Given the description of an element on the screen output the (x, y) to click on. 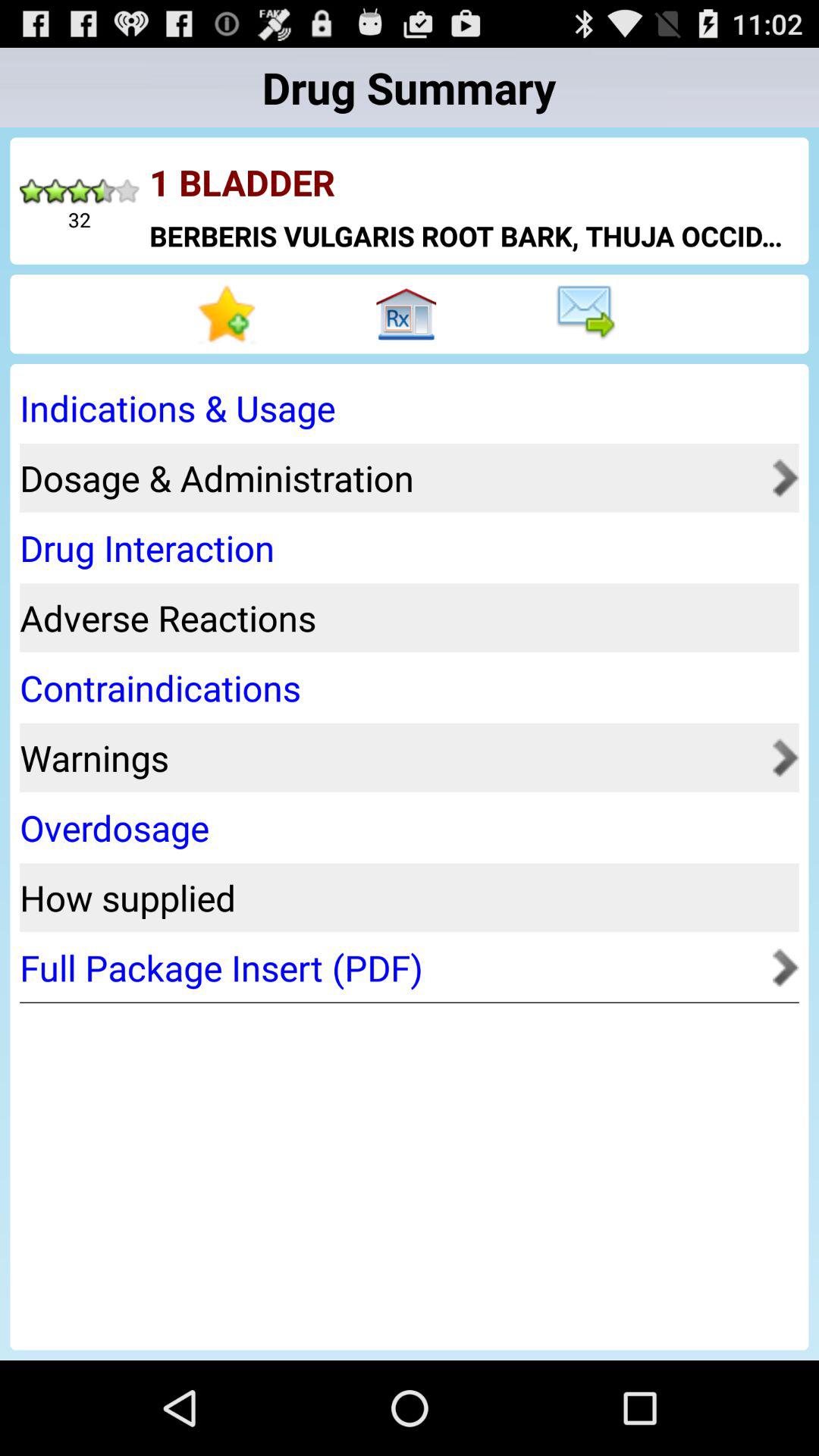
press the item above the how supplied icon (403, 827)
